Given the description of an element on the screen output the (x, y) to click on. 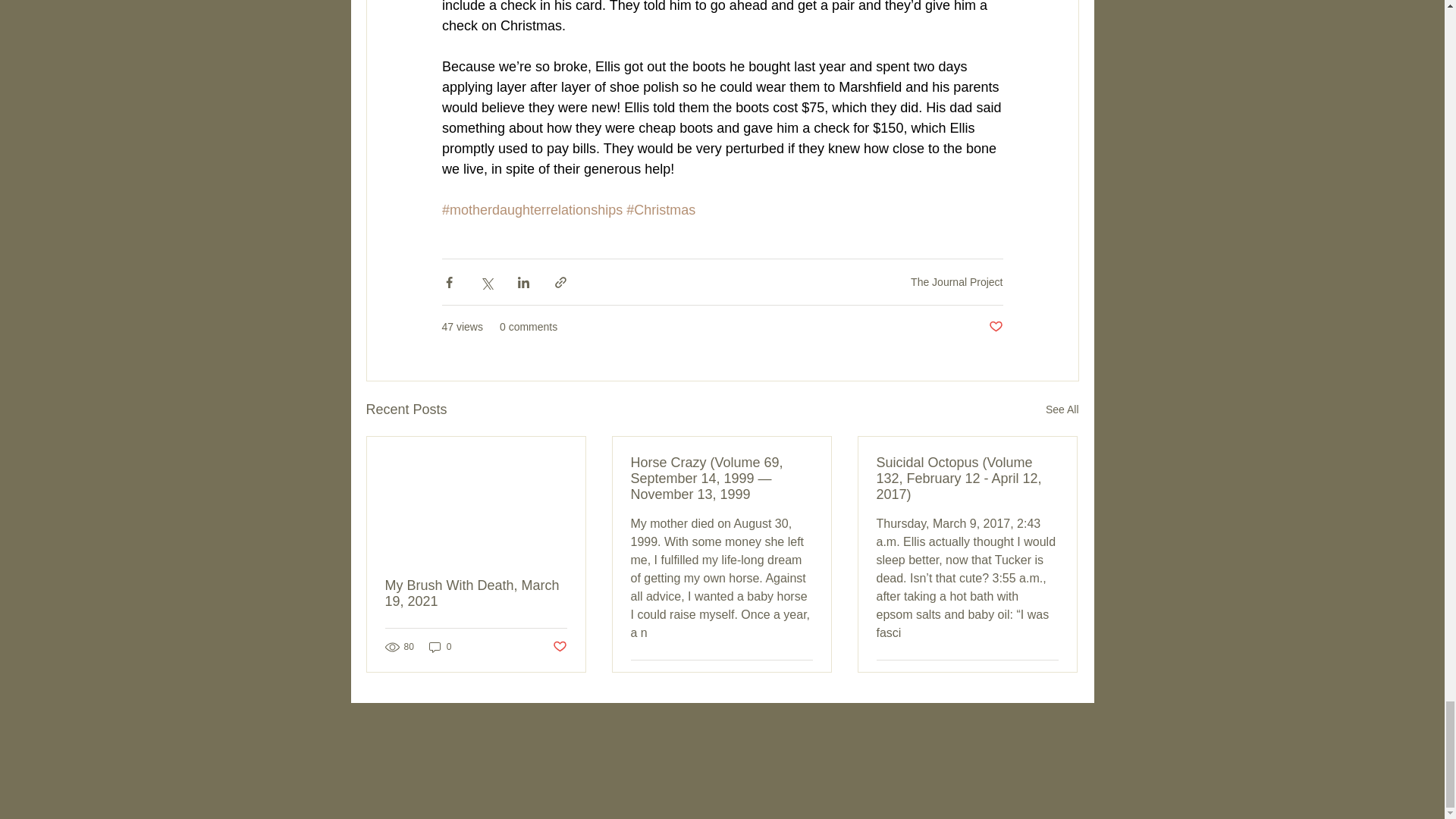
The Journal Project (957, 282)
0 (440, 646)
See All (1061, 409)
Post not marked as liked (995, 326)
My Brush With Death, March 19, 2021 (476, 593)
Post not marked as liked (558, 646)
Post not marked as liked (804, 678)
